Given the description of an element on the screen output the (x, y) to click on. 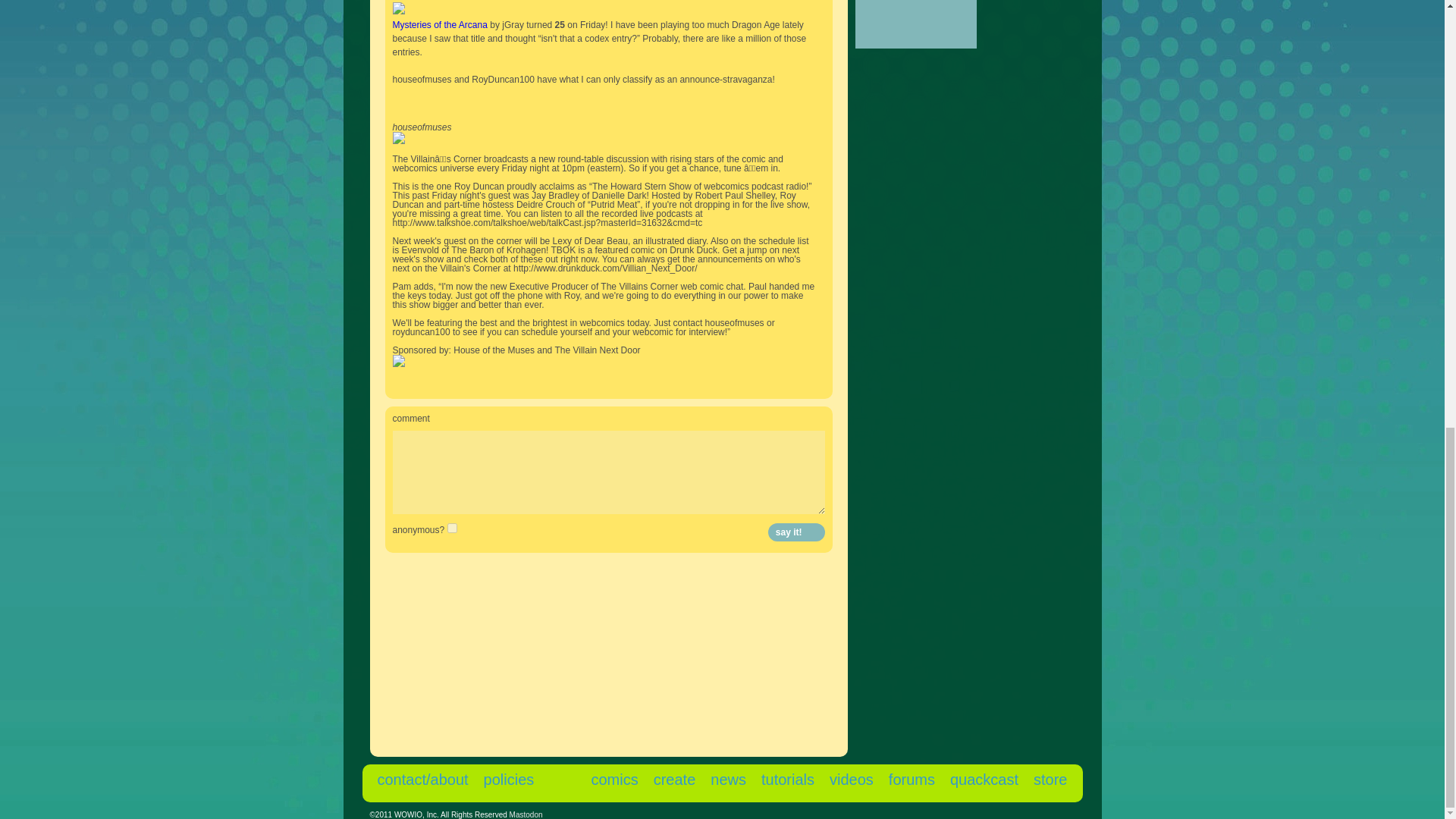
comics (614, 779)
Mysteries of the Arcana (440, 24)
policies (508, 779)
say it! (796, 532)
1 (451, 528)
say it! (796, 532)
